Given the description of an element on the screen output the (x, y) to click on. 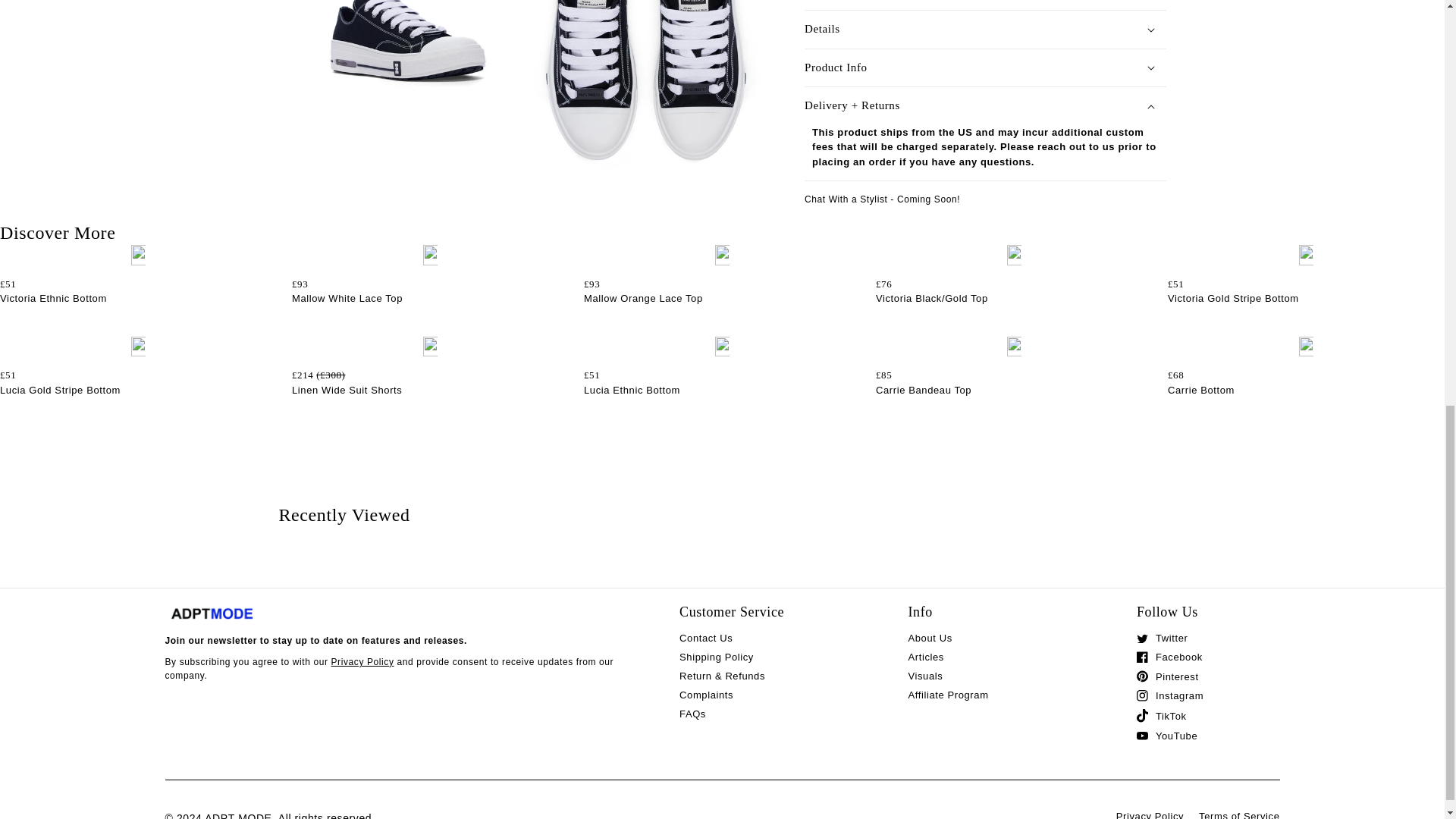
Privacy Policy (361, 661)
